Given the description of an element on the screen output the (x, y) to click on. 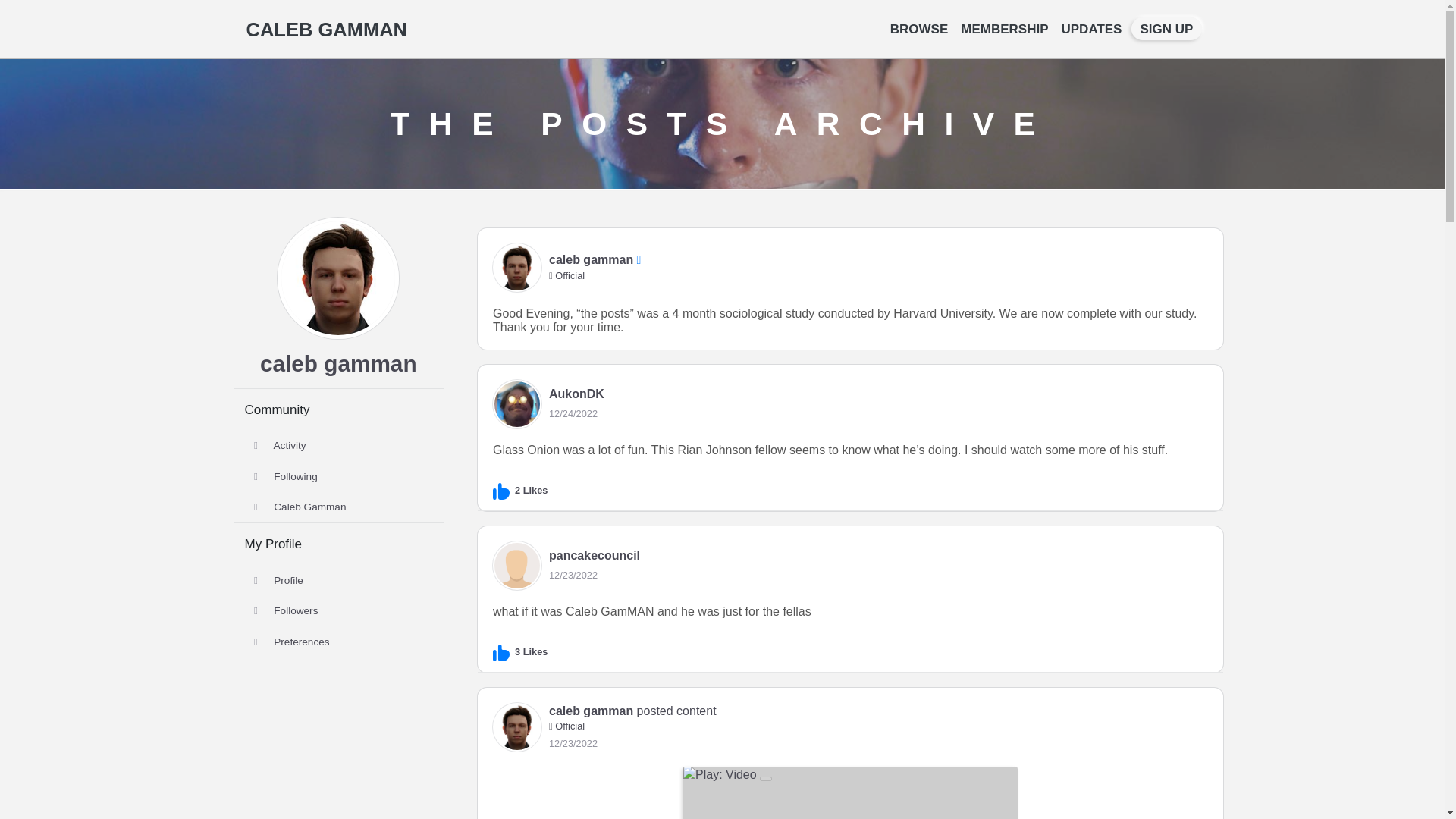
2 Likes (520, 490)
MEMBERSHIP (1004, 29)
Profile (338, 580)
December 22, 2022 4:18 pm (572, 743)
caleb gamman (338, 362)
caleb gamman (590, 709)
AukonDK (576, 393)
Activity (338, 445)
BROWSE (919, 29)
Following (338, 476)
